Given the description of an element on the screen output the (x, y) to click on. 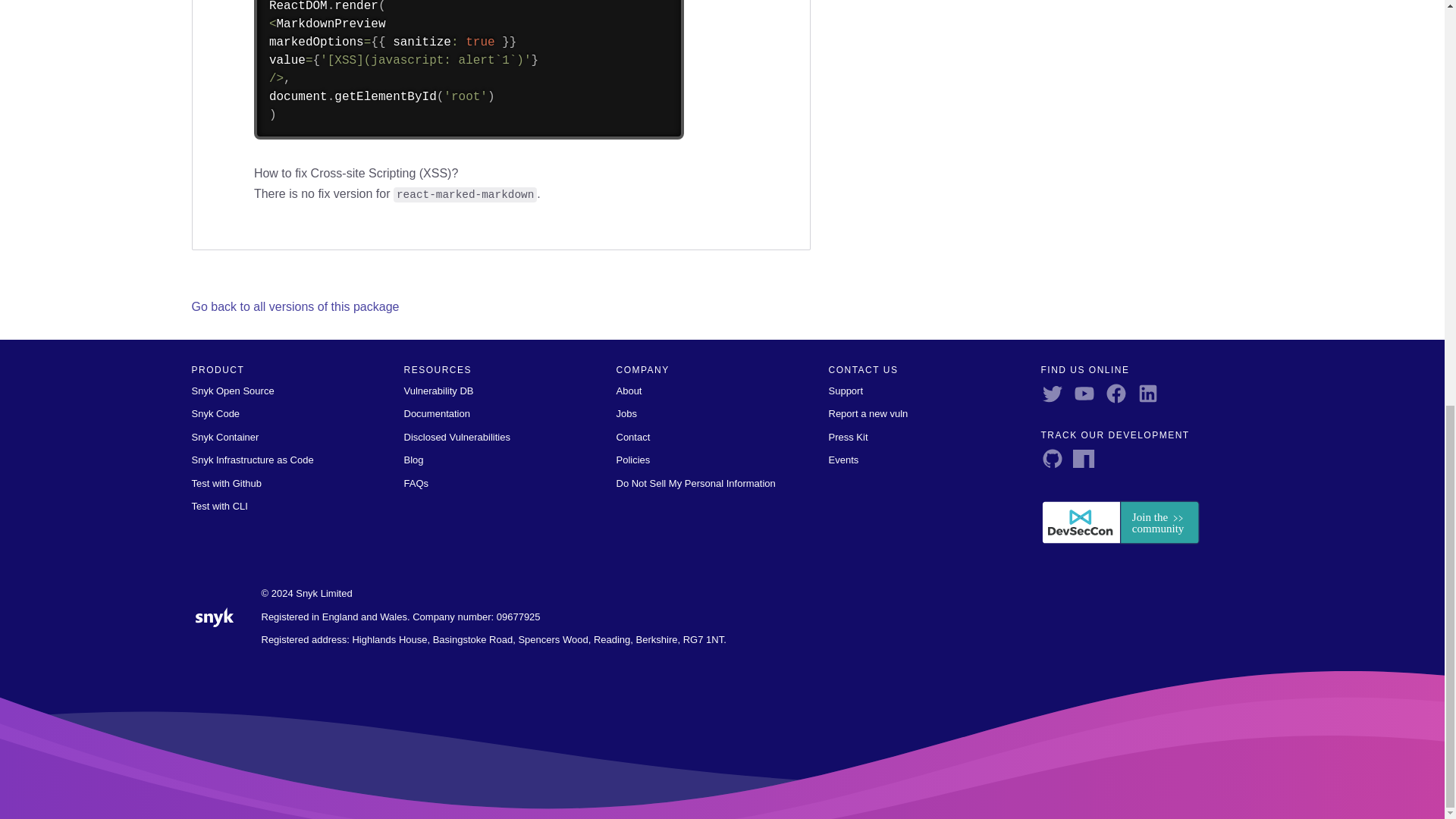
Documentation (435, 413)
Press Kit (847, 437)
Blog (413, 460)
Facebook (1119, 391)
NPM (1087, 456)
Twitter (1056, 391)
Snyk Container (224, 437)
Snyk Code (215, 413)
Test with CLI (218, 505)
Support (845, 390)
